Given the description of an element on the screen output the (x, y) to click on. 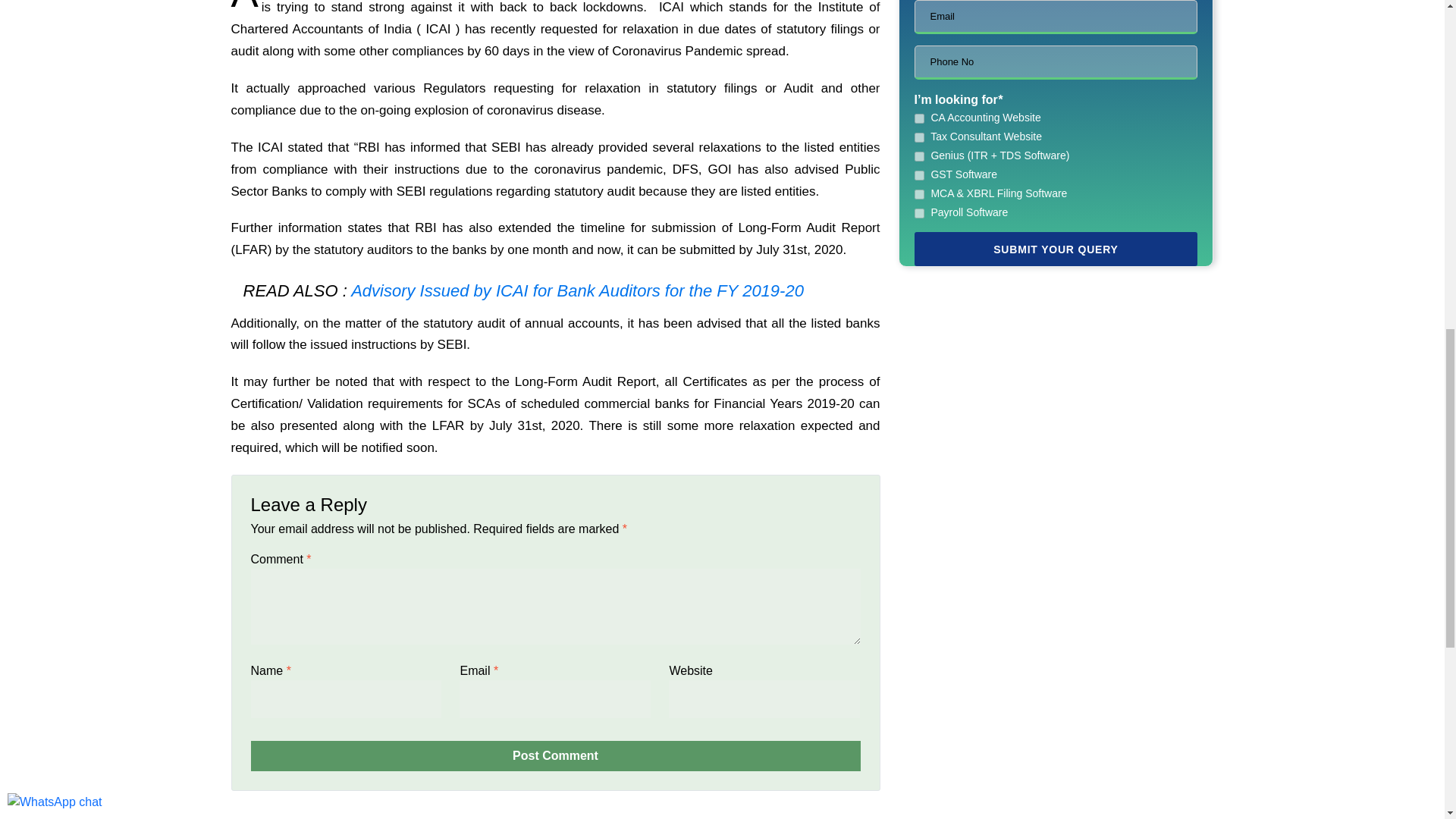
Payroll Software (919, 213)
Post Comment (555, 756)
Advisory Issued by ICAI for Bank Auditors for the FY 2019-20 (576, 290)
Submit Your Query (1056, 248)
GST Software (919, 175)
Post Comment (555, 756)
Tax Consultant Website (919, 137)
Submit Your Query (1056, 248)
CA Accounting Website (919, 118)
